Given the description of an element on the screen output the (x, y) to click on. 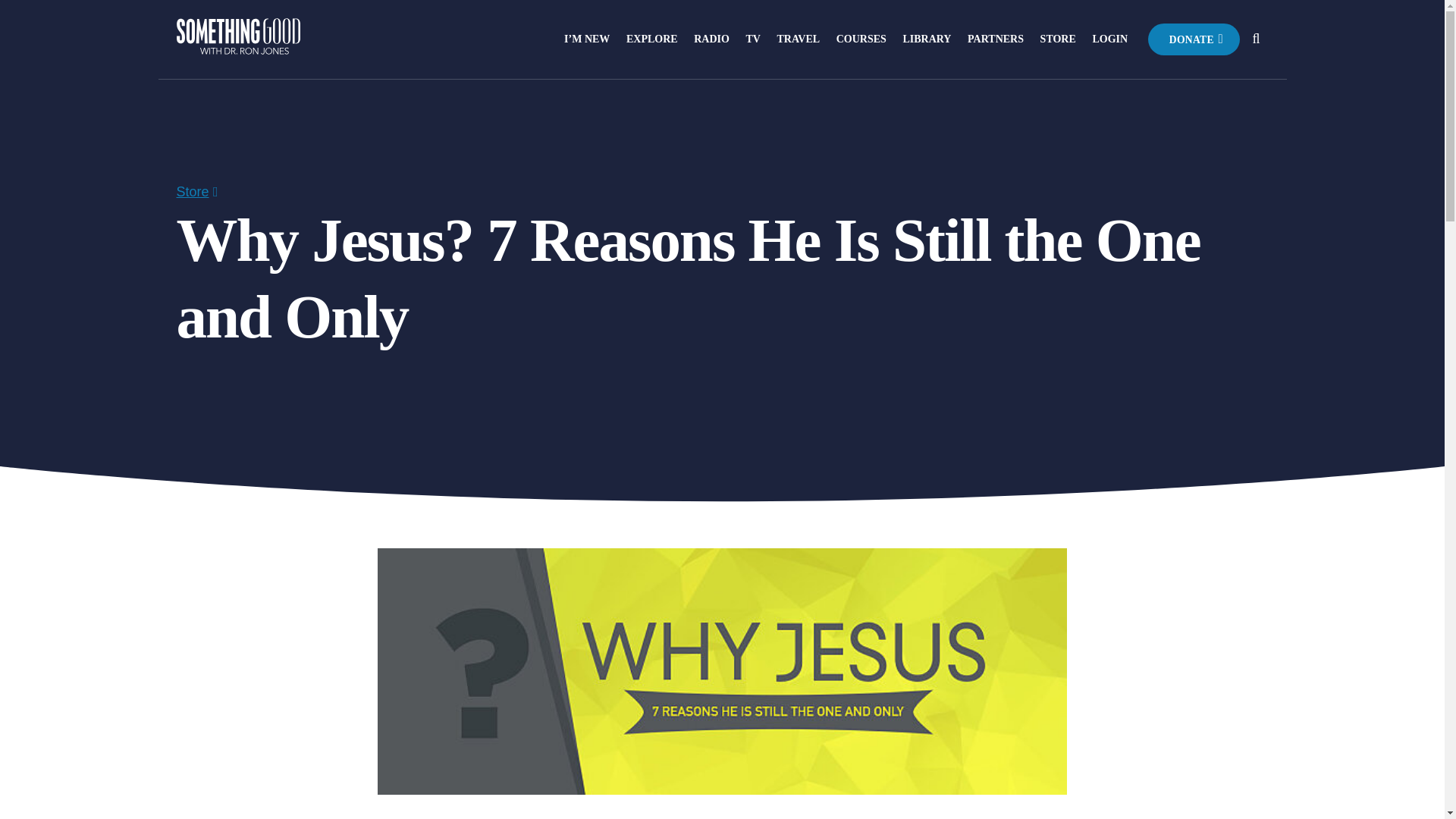
DONATE (1194, 39)
COURSES (860, 39)
LIBRARY (926, 39)
TRAVEL (799, 39)
EXPLORE (652, 39)
Store (192, 191)
PARTNERS (995, 39)
